Given the description of an element on the screen output the (x, y) to click on. 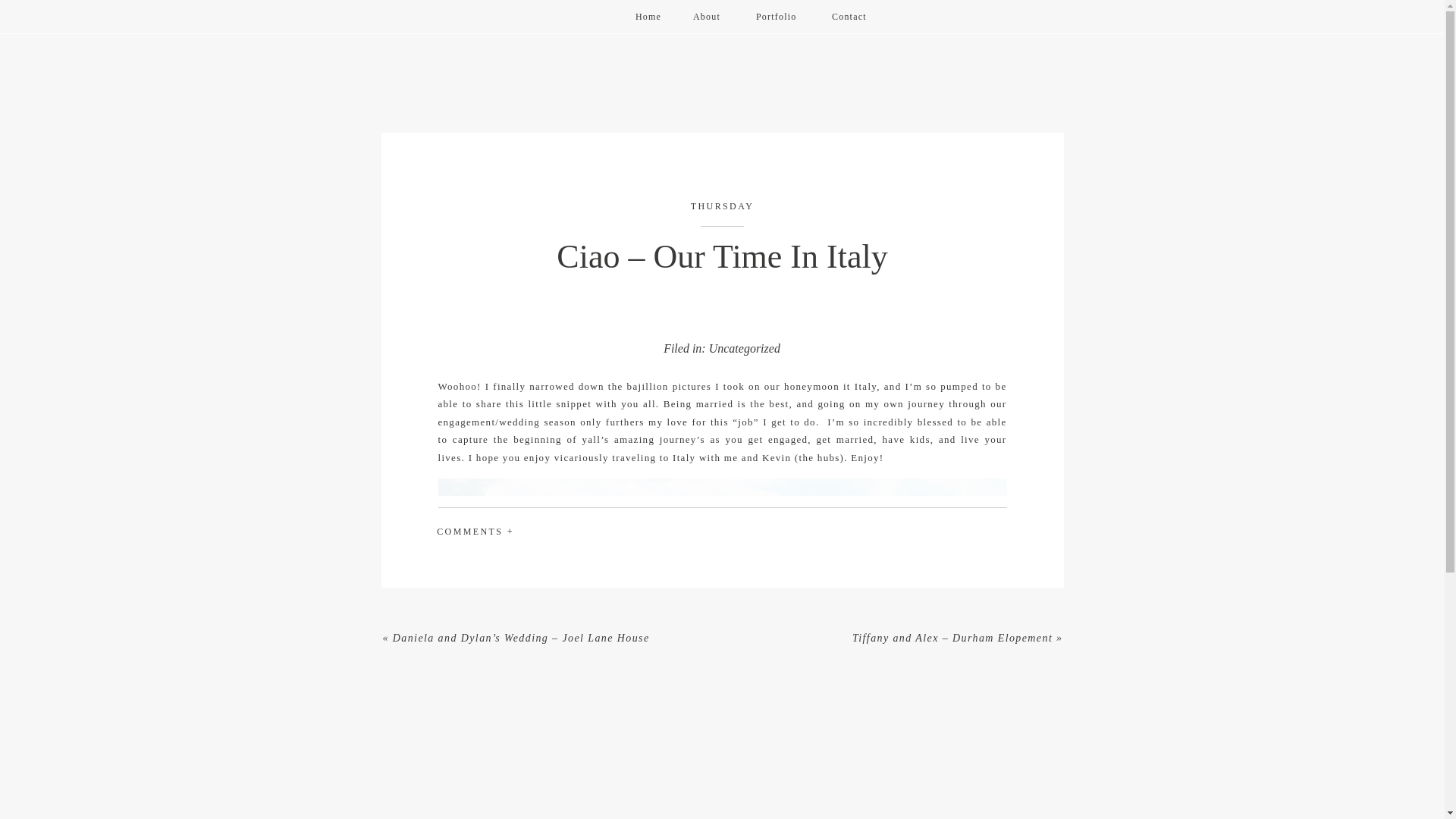
DANIELLE JAMES (14, 16)
Uncategorized (744, 348)
About (708, 18)
Contact (851, 18)
Portfolio (767, 18)
Home (648, 18)
